Given the description of an element on the screen output the (x, y) to click on. 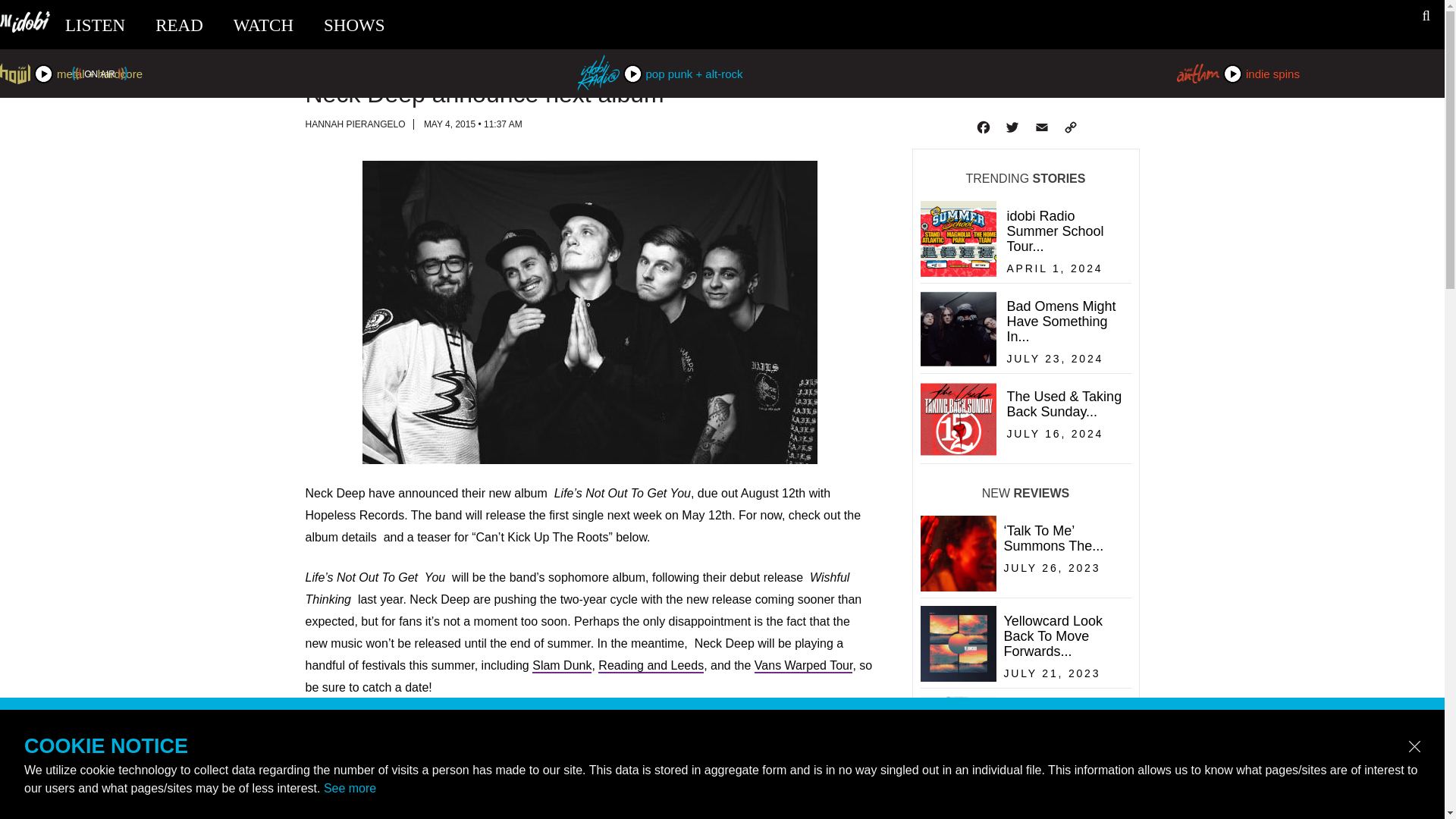
Slam Dunk (561, 666)
Twitter (1023, 363)
WATCH (1011, 126)
HANNAH PIERANGELO (263, 24)
Email (354, 123)
LISTEN (1040, 126)
Vans Warped Tour (95, 24)
Copy Link (803, 666)
Reading and Leeds (1069, 126)
SHOWS (650, 666)
Facebook (354, 24)
Hannah Pierangelo (982, 126)
READ (354, 123)
